Given the description of an element on the screen output the (x, y) to click on. 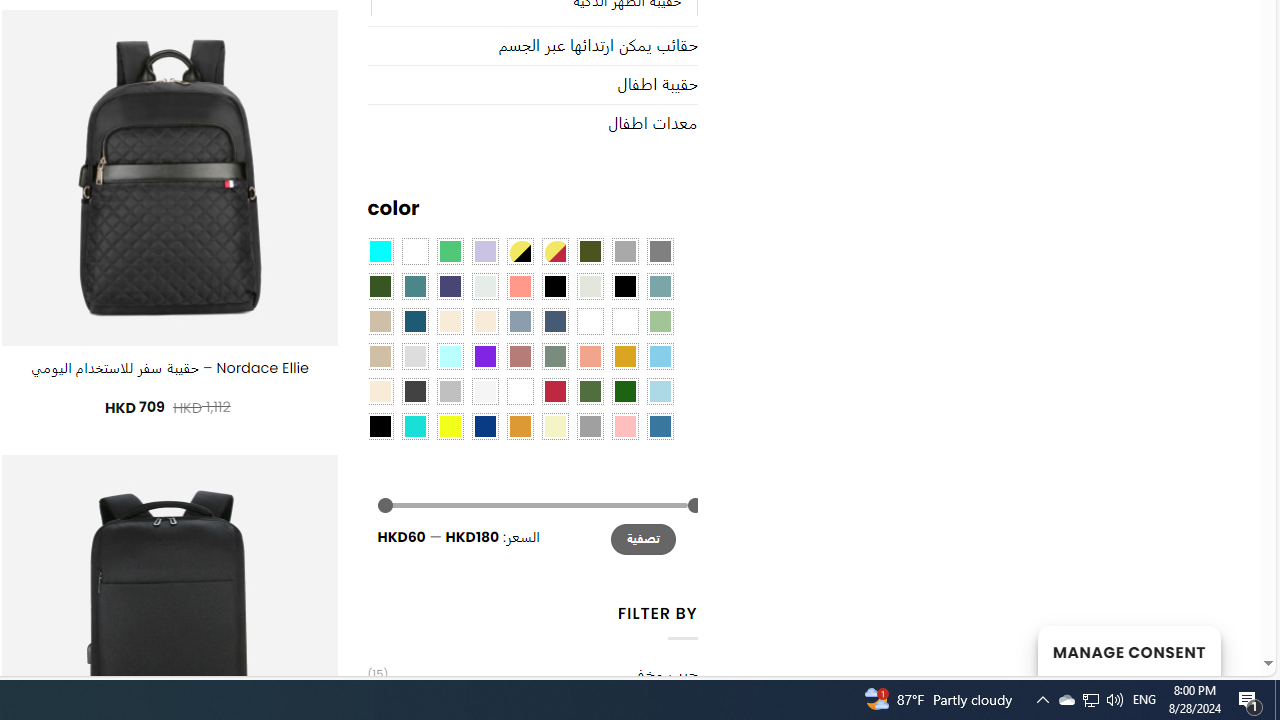
MANAGE CONSENT (1128, 650)
Light Taupe (379, 355)
Light Green (659, 321)
Yellow-Black (519, 251)
Khaki (624, 321)
